Given the description of an element on the screen output the (x, y) to click on. 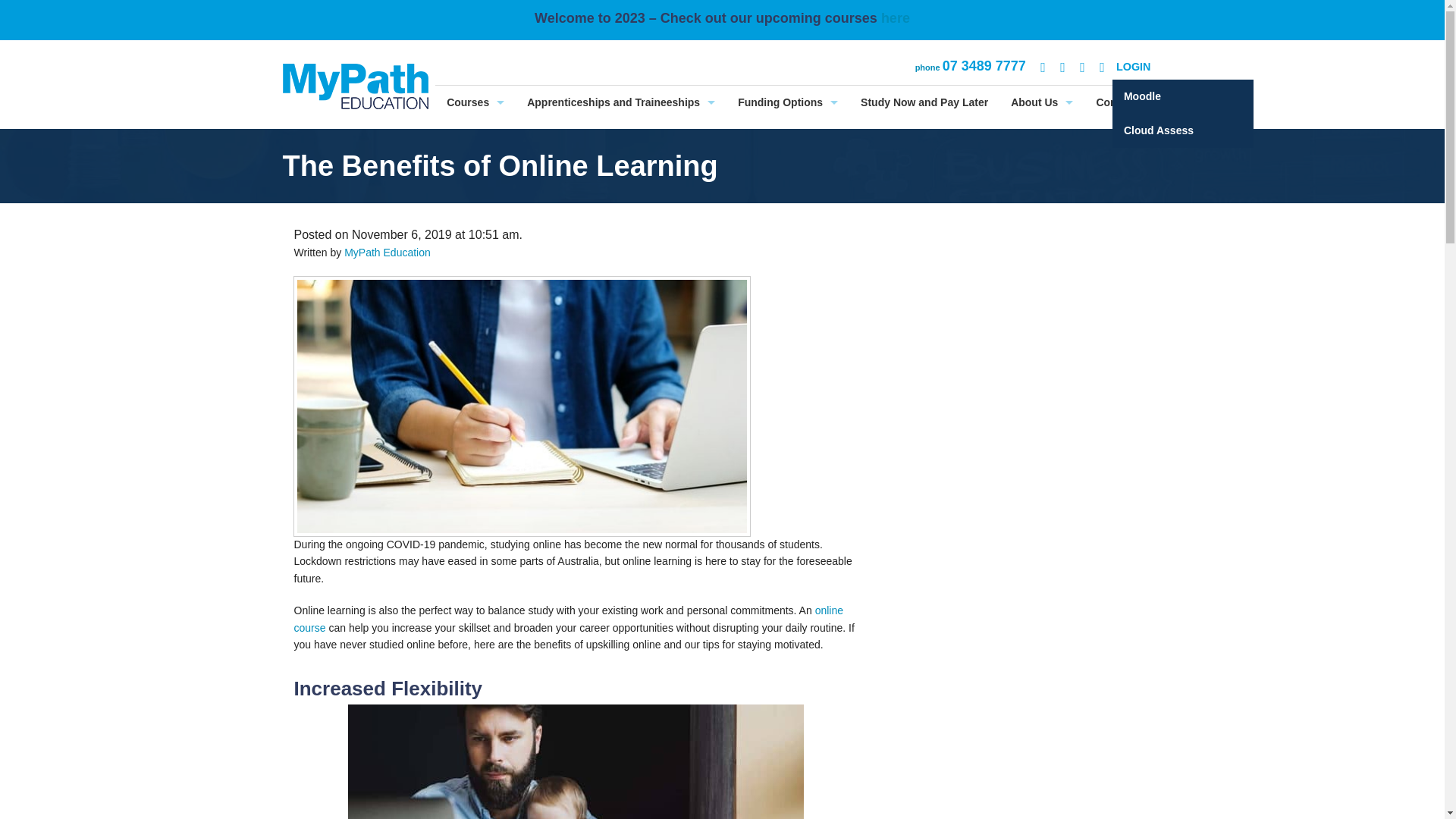
Moodle (1182, 96)
Cloud Assess (1182, 130)
phone 07 3489 7777 (970, 65)
here (895, 17)
